Given the description of an element on the screen output the (x, y) to click on. 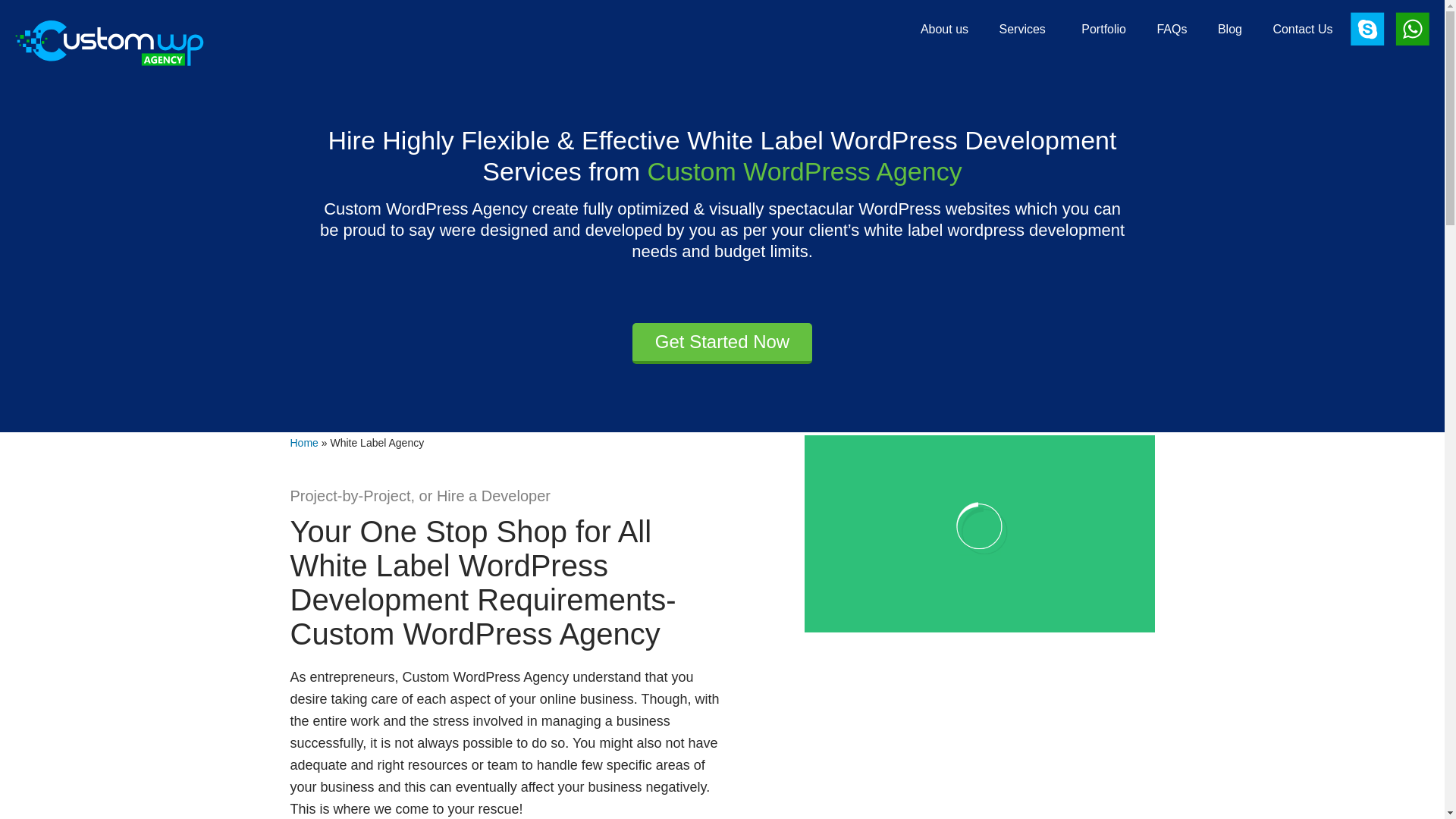
Get Started Now (721, 342)
Services (1024, 27)
Home (303, 442)
Contact Us (1302, 27)
FAQs (1170, 27)
About us (944, 27)
Blog (1229, 27)
Portfolio (1103, 27)
